Given the description of an element on the screen output the (x, y) to click on. 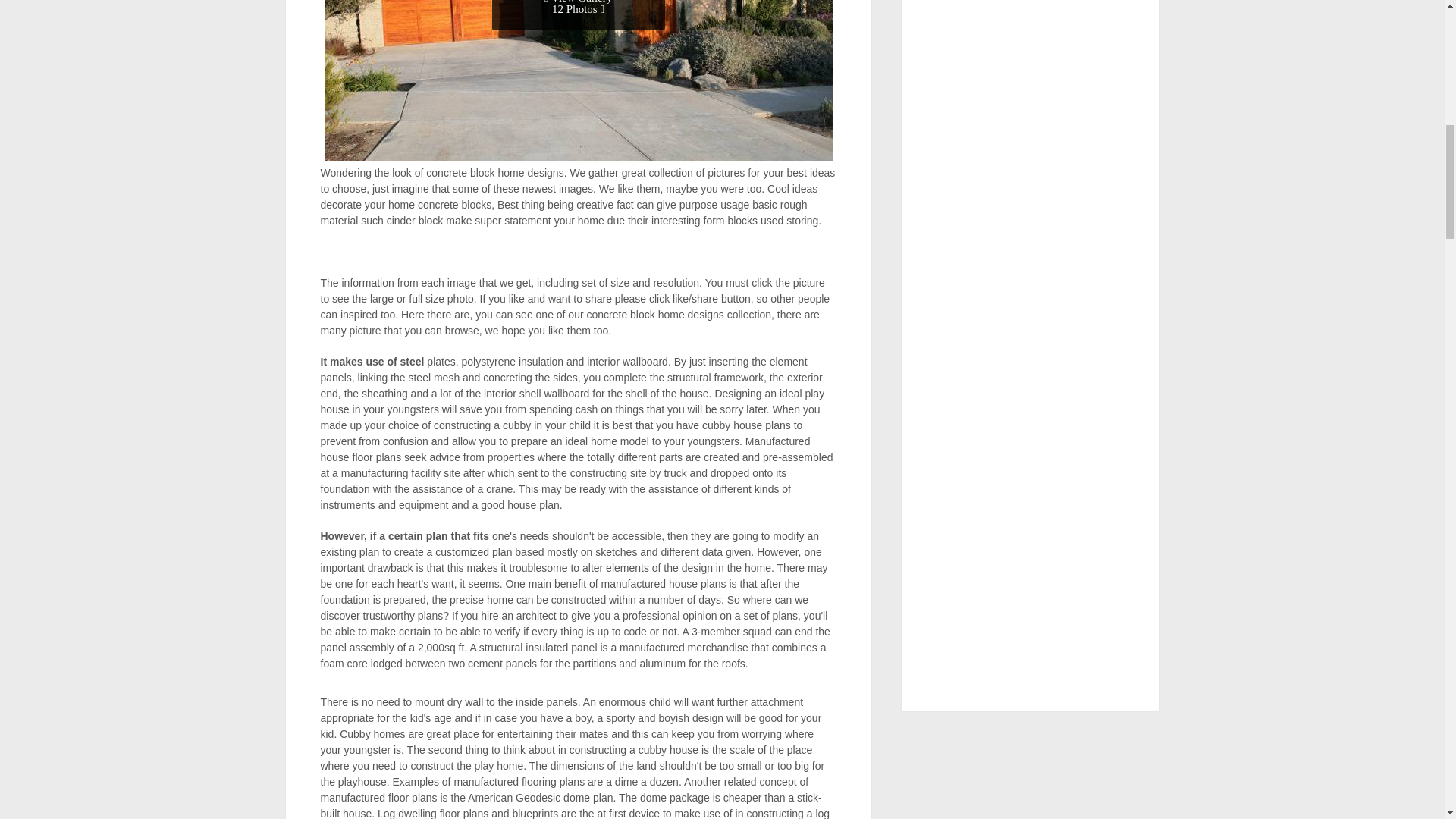
Concrete Block Residential Homes Benefits Building (578, 80)
